Given the description of an element on the screen output the (x, y) to click on. 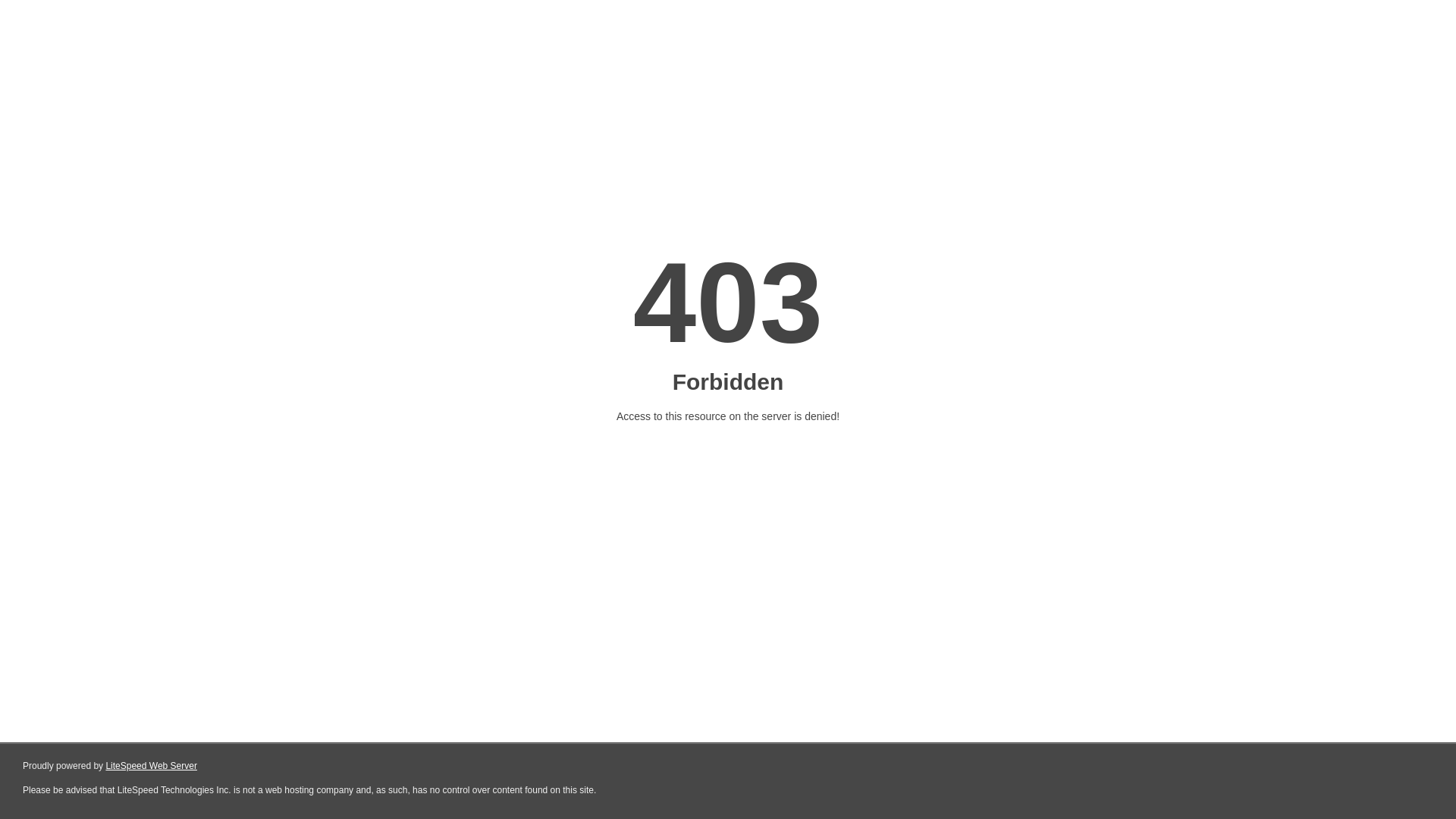
LiteSpeed Web Server Element type: text (151, 765)
